Given the description of an element on the screen output the (x, y) to click on. 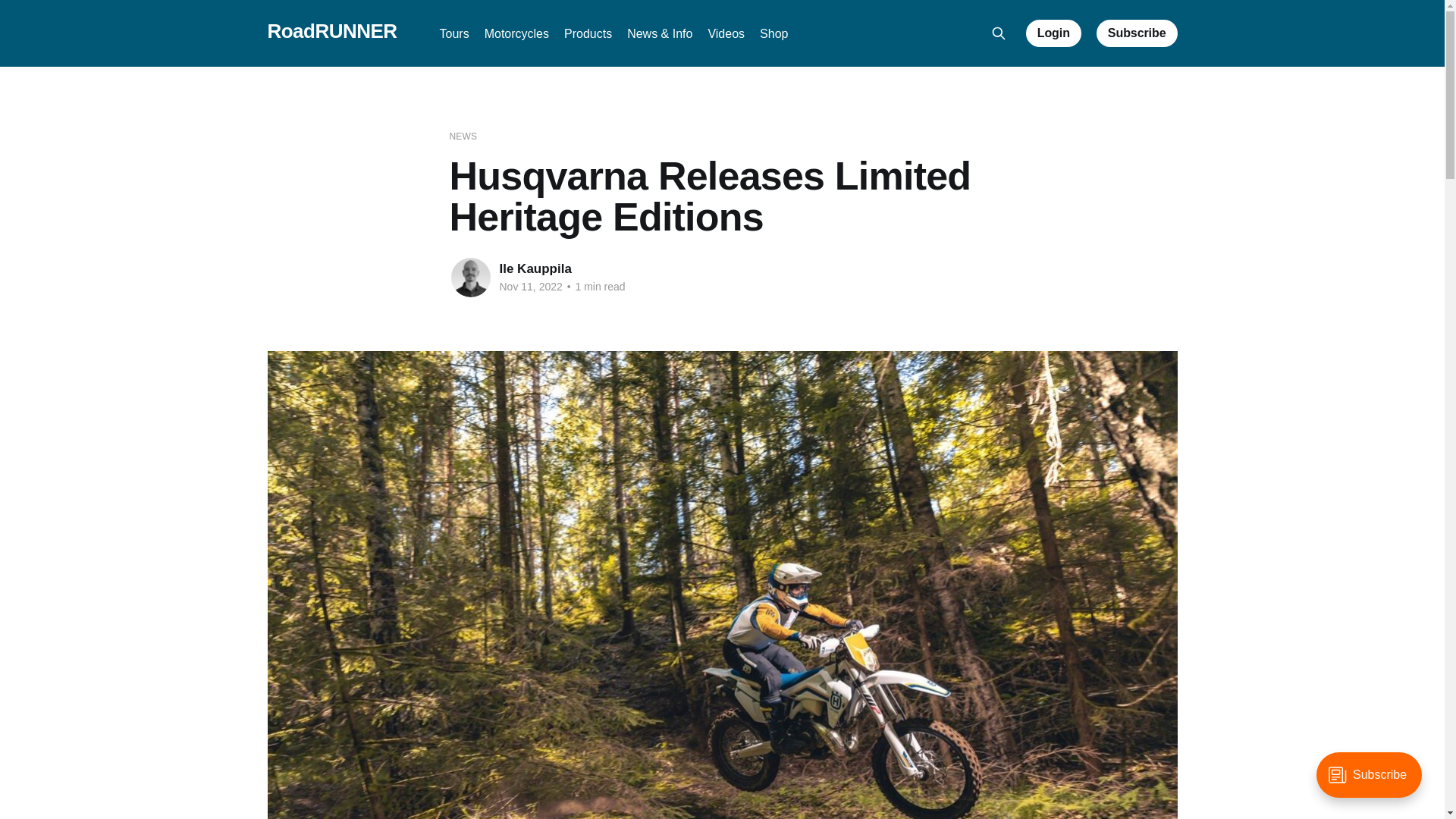
NEWS (462, 136)
Products (587, 33)
Shop (773, 33)
Ile Kauppila (534, 268)
Motorcycles (516, 33)
Tours (453, 33)
Login (1053, 33)
RoadRUNNER (331, 31)
Subscribe (1136, 33)
Videos (725, 33)
